Given the description of an element on the screen output the (x, y) to click on. 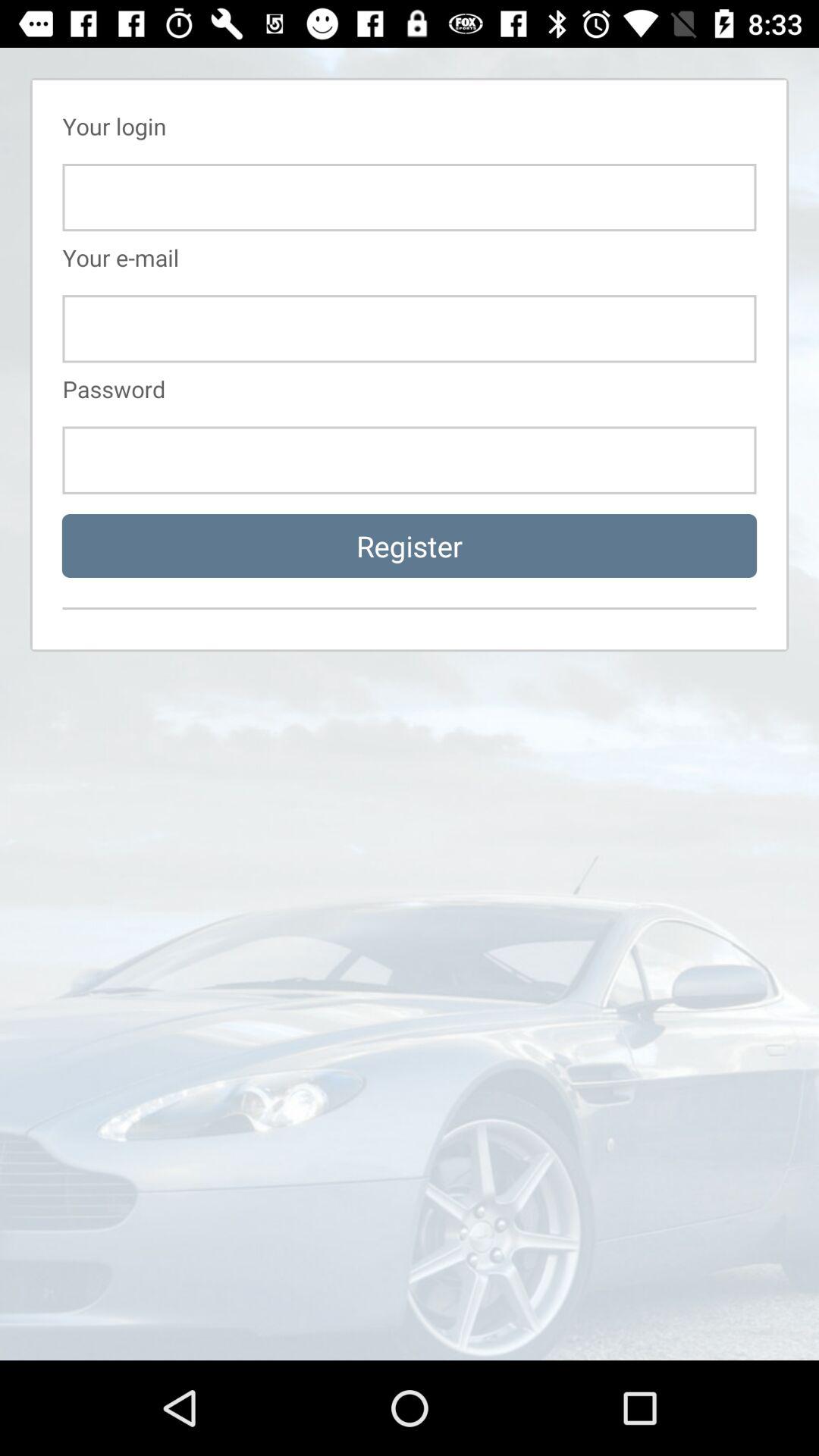
email address (409, 328)
